Given the description of an element on the screen output the (x, y) to click on. 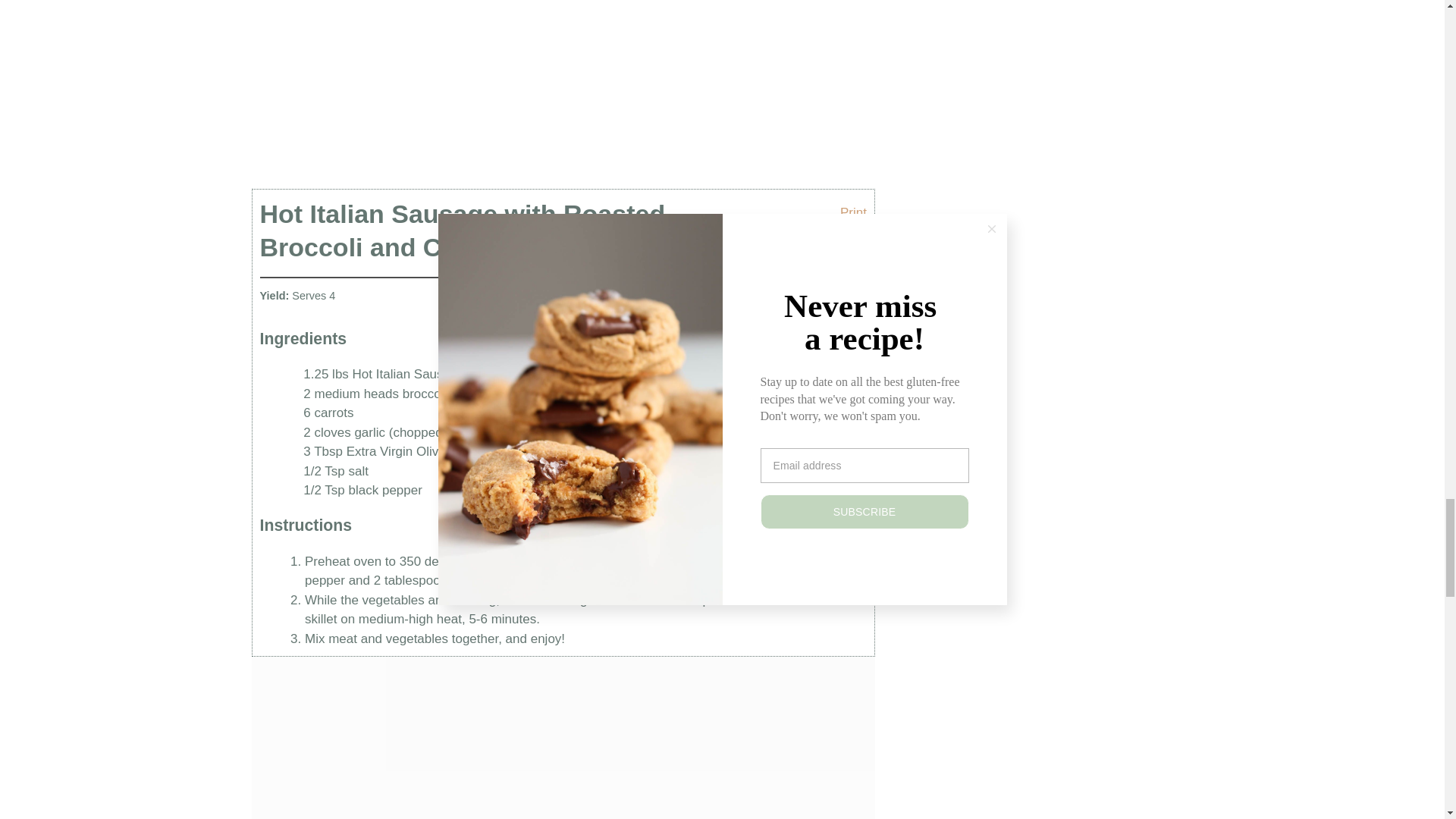
Print this recipe (845, 208)
